Given the description of an element on the screen output the (x, y) to click on. 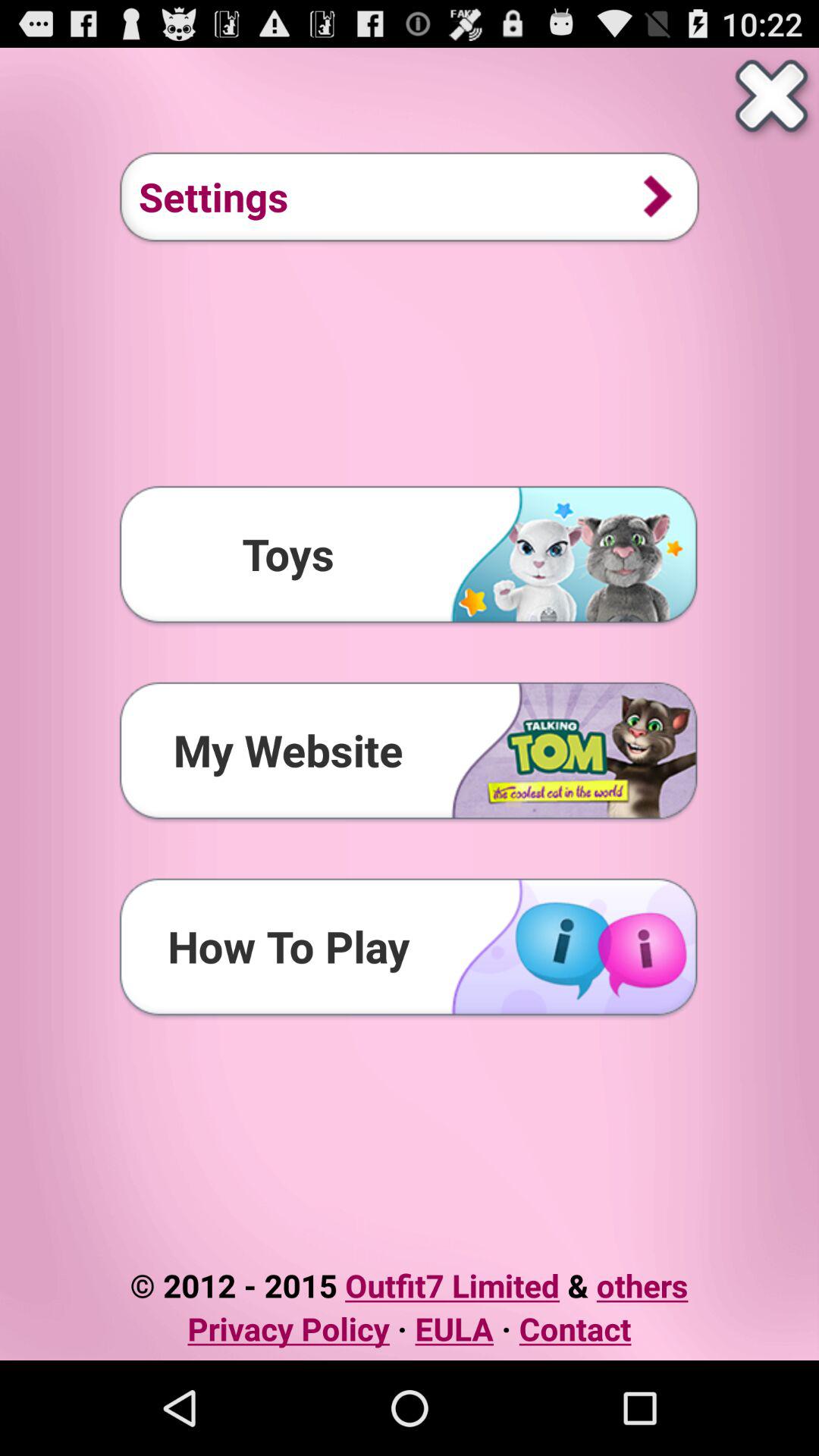
press privacy policy eula (409, 1328)
